Given the description of an element on the screen output the (x, y) to click on. 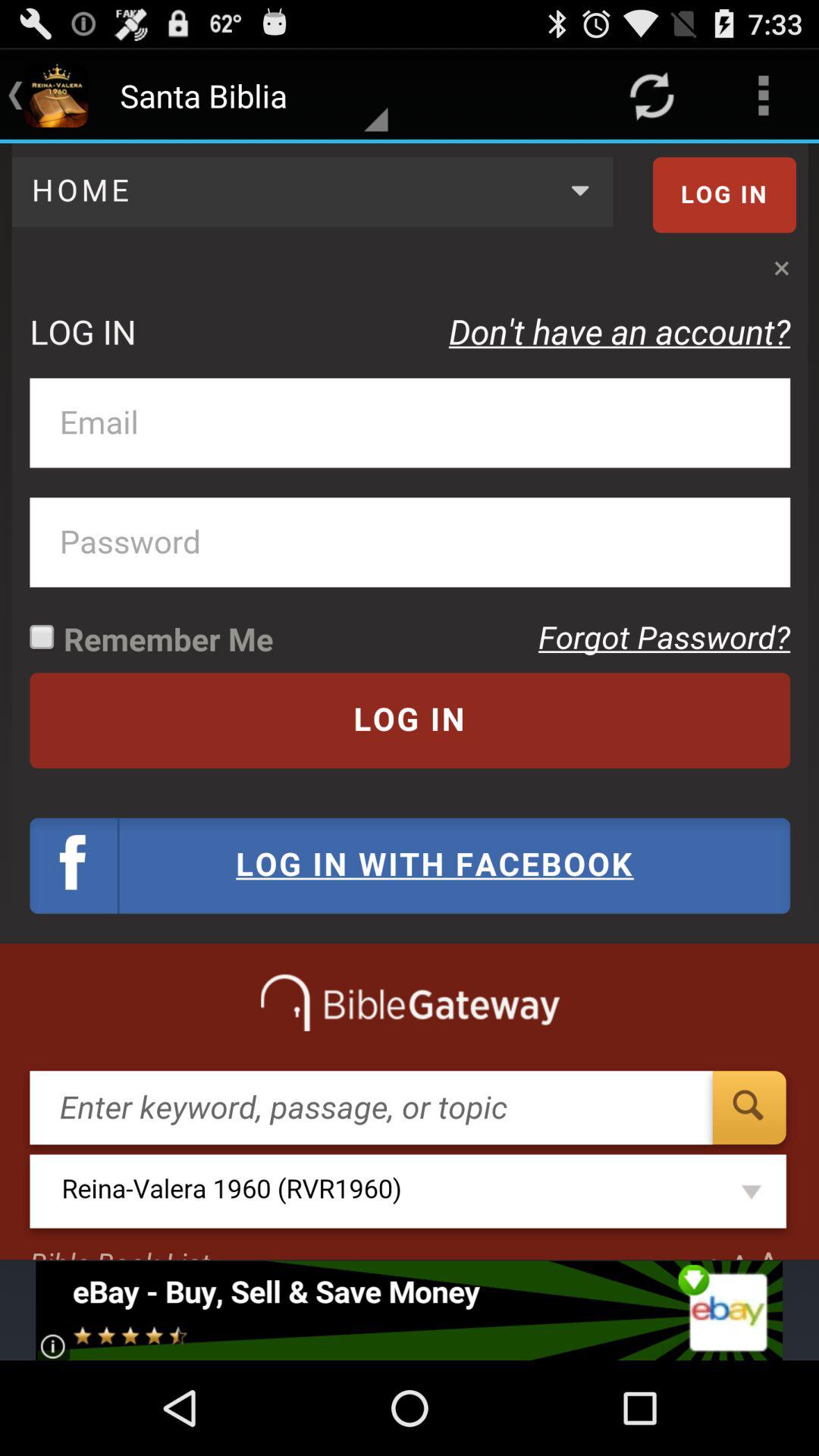
select advertisement (408, 1310)
